Given the description of an element on the screen output the (x, y) to click on. 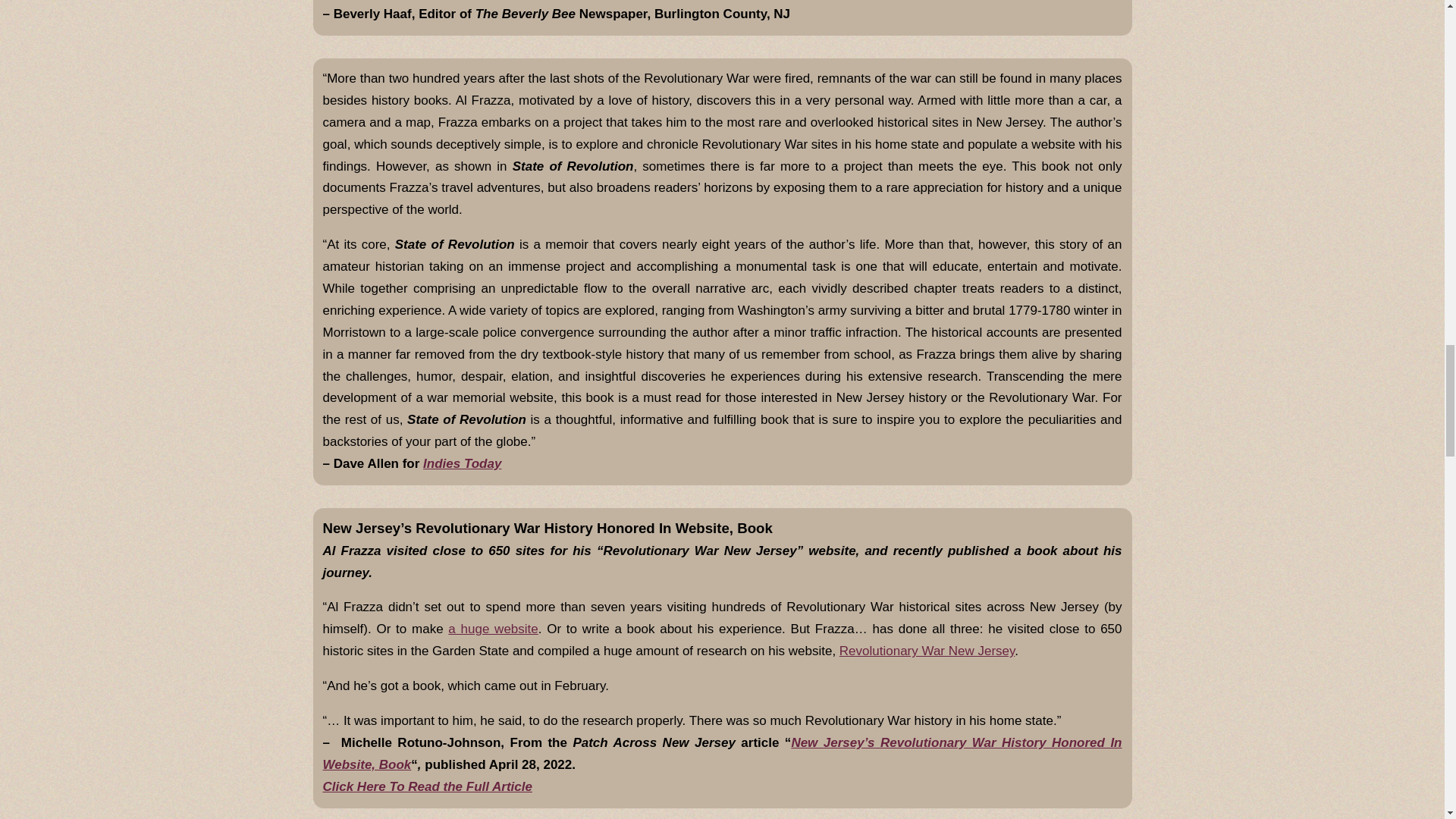
Revolutionary War New Jersey (927, 650)
Click Here To Read the Full Article (427, 786)
Book Review for Al Frazza State of Revolution (461, 463)
a huge website (492, 628)
Indies Today (461, 463)
